Given the description of an element on the screen output the (x, y) to click on. 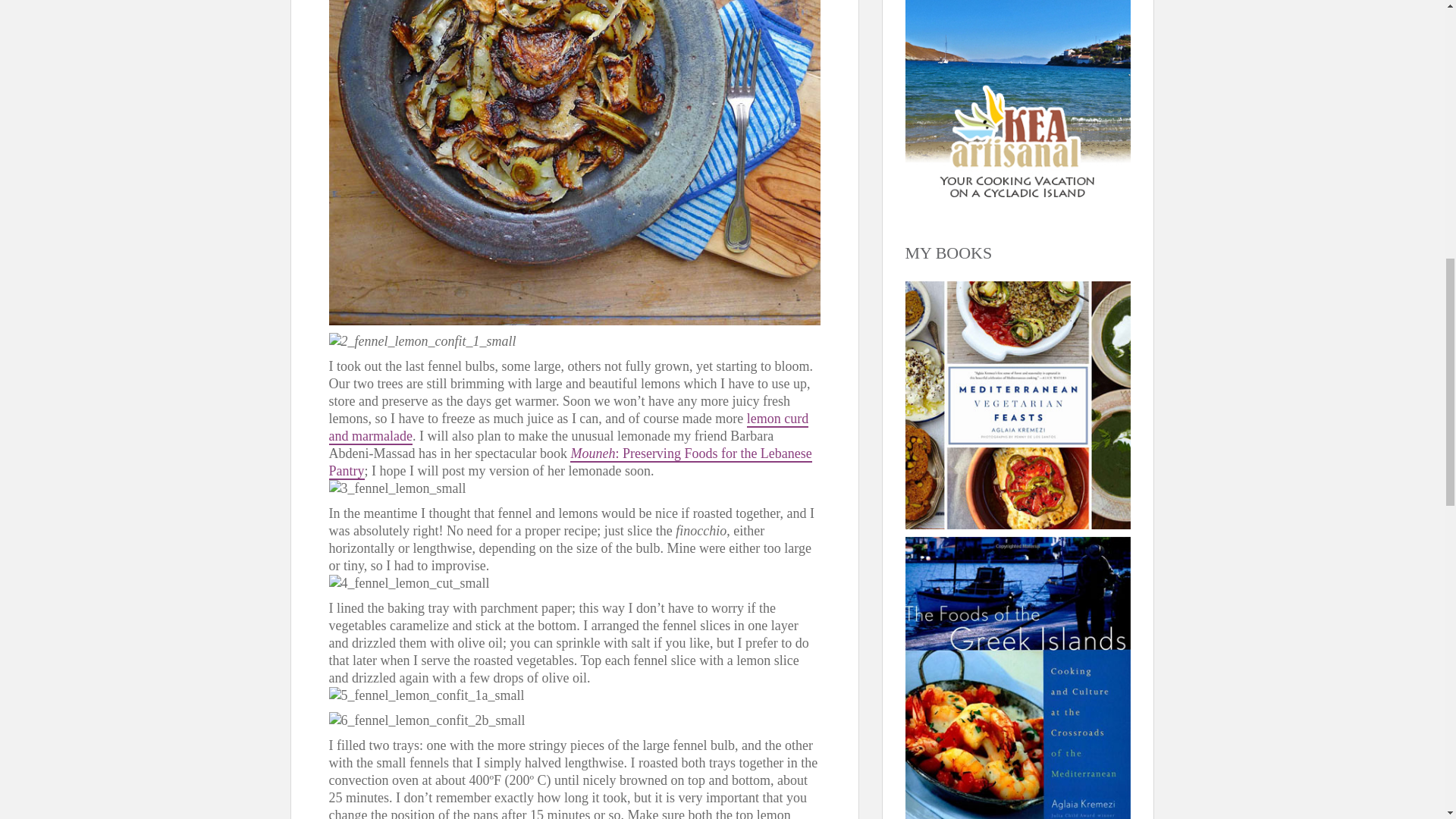
Mouneh: Preserving Foods for the Lebanese Pantry (570, 462)
lemon curd and marmalade (569, 428)
